Given the description of an element on the screen output the (x, y) to click on. 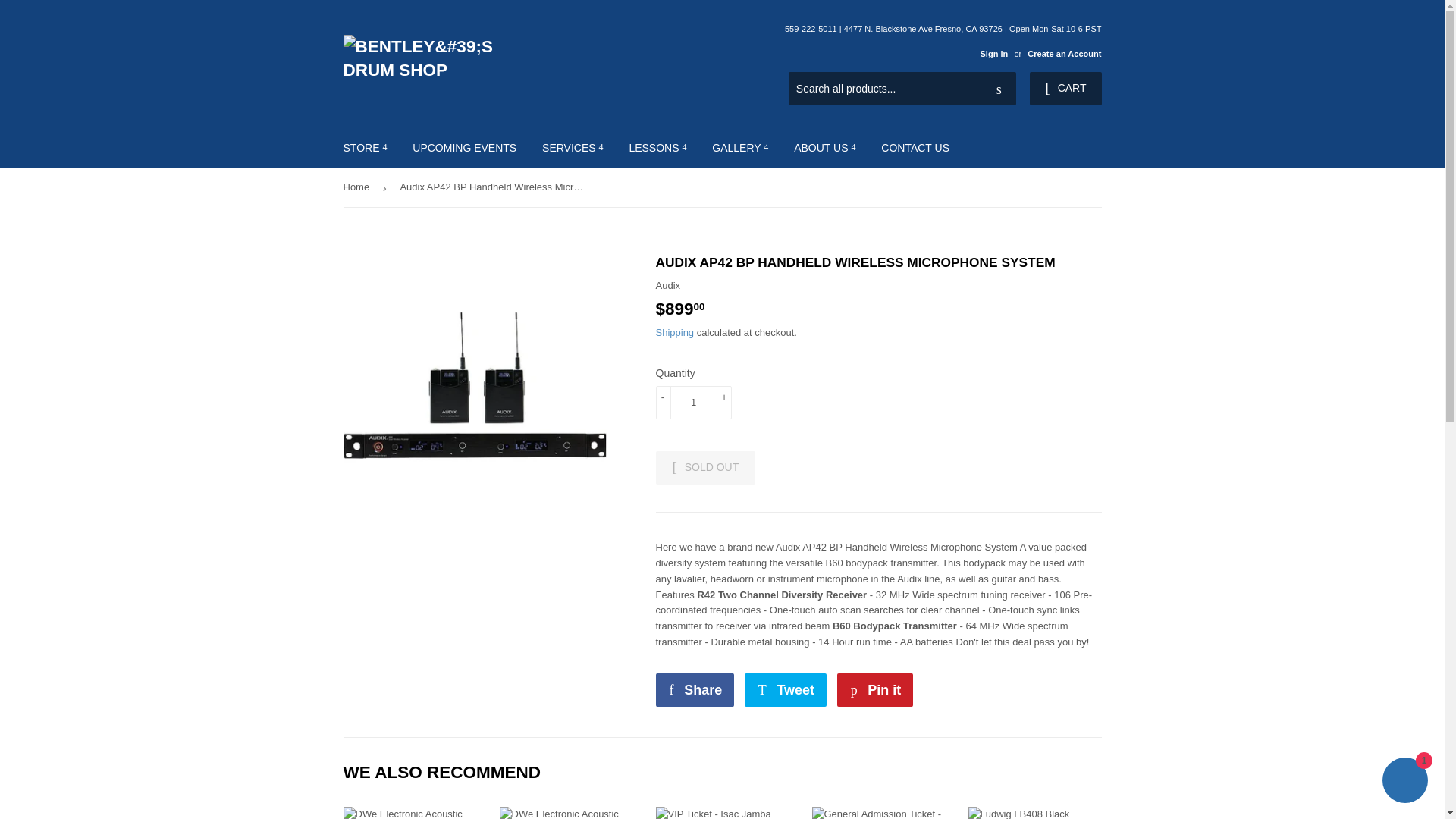
Pin on Pinterest (875, 689)
Back to the frontpage (358, 187)
Search (998, 89)
CART (1064, 88)
Shopify online store chat (1404, 781)
Sign in (993, 53)
Share on Facebook (694, 689)
Tweet on Twitter (785, 689)
Create an Account (1063, 53)
1 (692, 402)
